Given the description of an element on the screen output the (x, y) to click on. 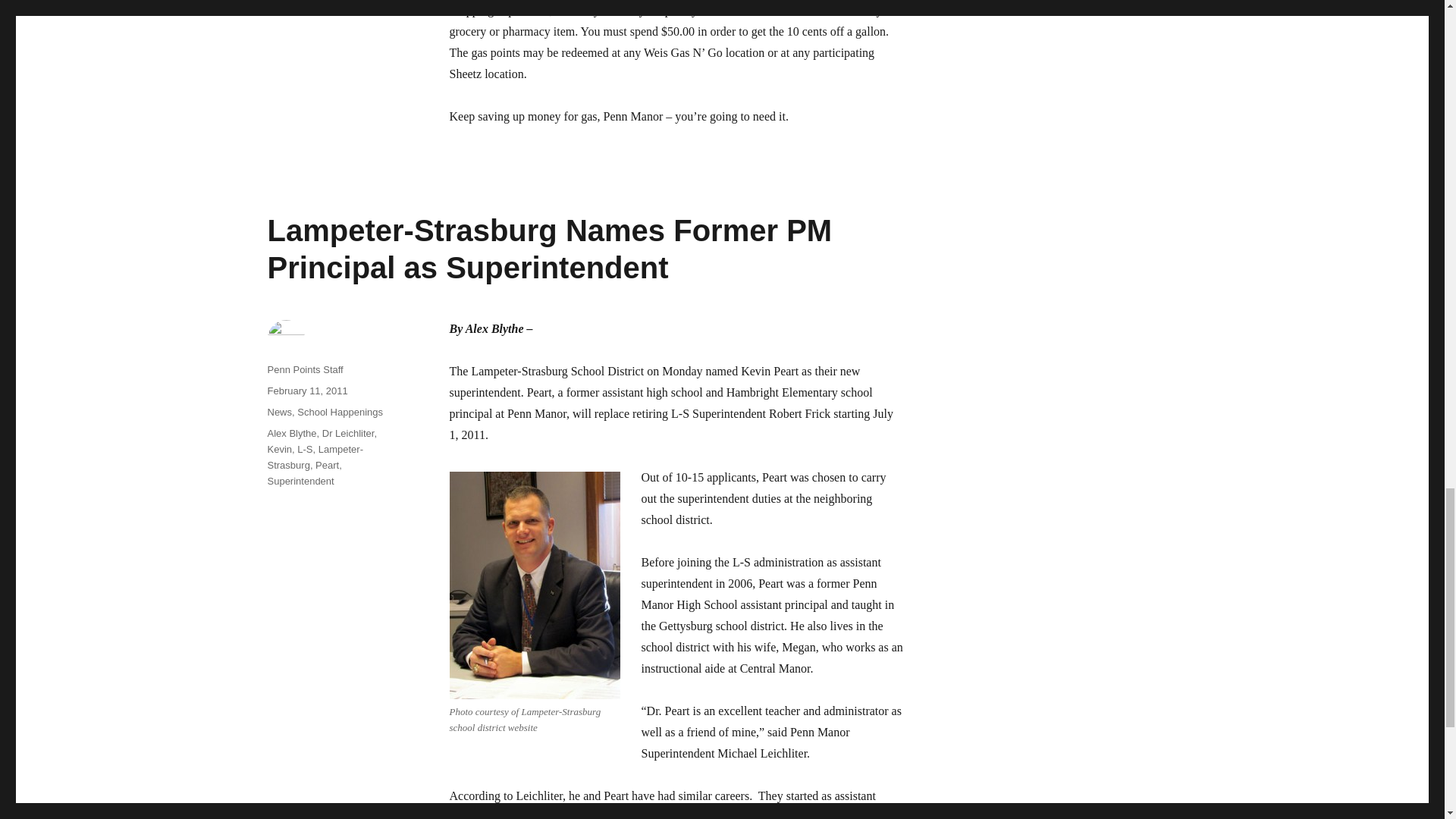
Alex Blythe (290, 432)
Lampeter-Strasburg (314, 456)
News (279, 411)
Kevin (279, 449)
February 11, 2011 (306, 390)
L-S (305, 449)
Penn Points Staff (304, 369)
Dr Leichliter (347, 432)
Superintendent (299, 480)
Peart (327, 464)
School Happenings (339, 411)
